Given the description of an element on the screen output the (x, y) to click on. 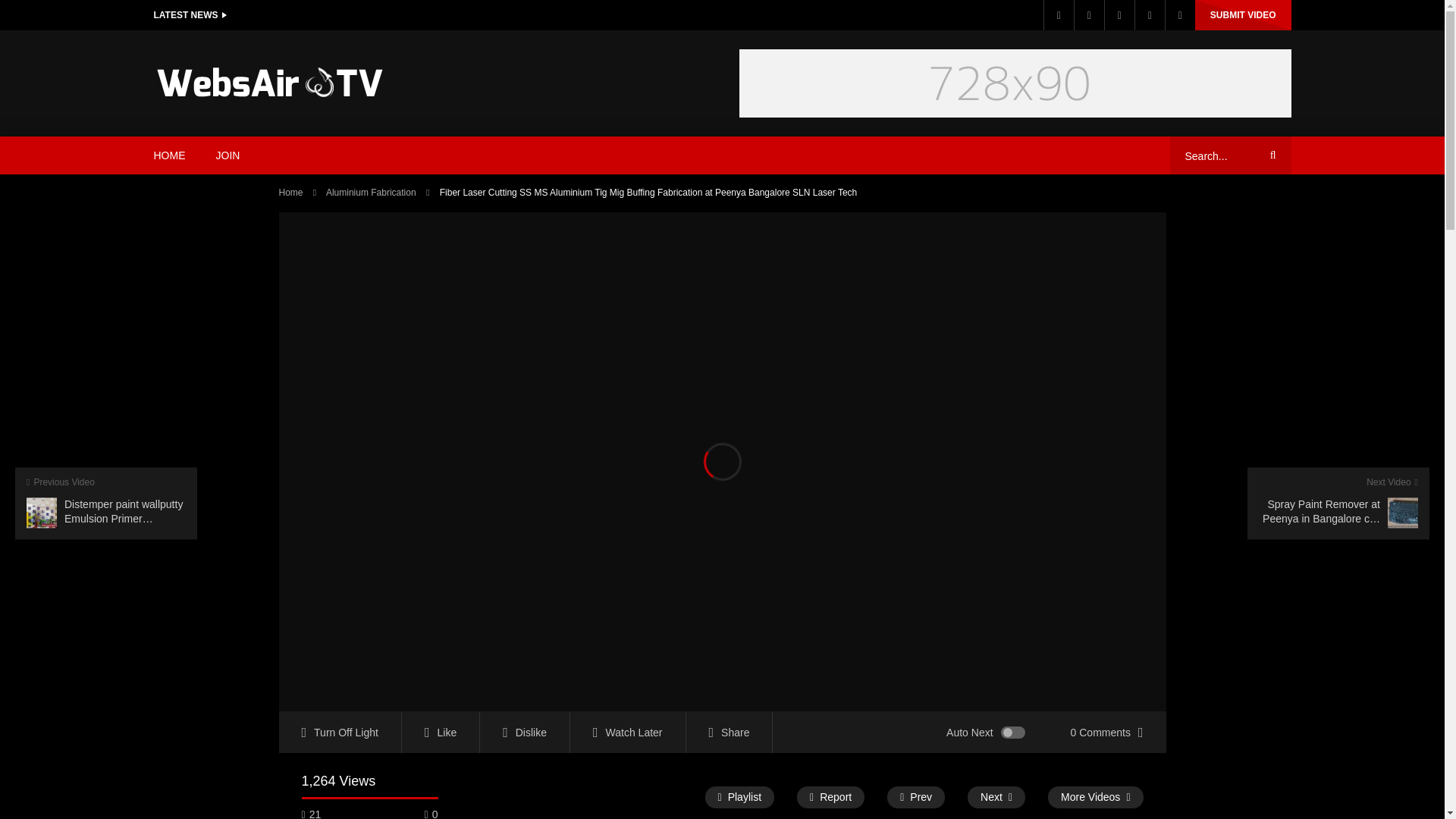
Facebook (1058, 15)
Notifications (1149, 15)
HOME (169, 155)
Search (1270, 155)
webs air tv (268, 83)
Prev (915, 797)
Home (290, 192)
Aluminium Fabrication (371, 192)
Next (996, 797)
Login (1179, 15)
Search (1270, 155)
JOIN (227, 155)
0 Comments (1107, 731)
